Given the description of an element on the screen output the (x, y) to click on. 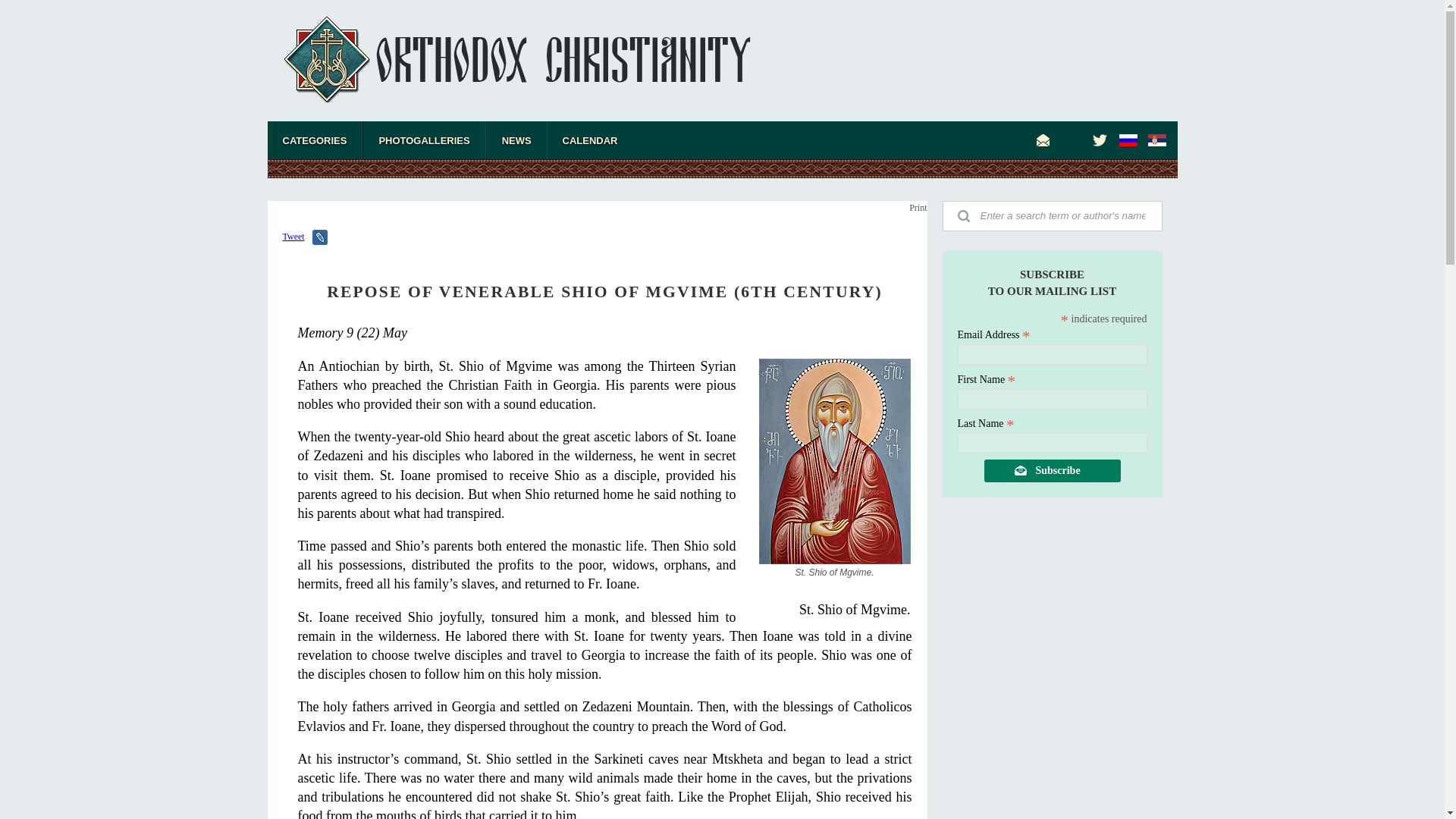
Serbian (1155, 139)
PHOTOGALLERIES (423, 139)
Subscribe (1052, 470)
Twitter (1100, 139)
Tweet (293, 235)
NEWS (516, 139)
CALENDAR (590, 139)
Russian (1128, 139)
SIgn up for our mailing list (1043, 139)
Print (917, 207)
